Given the description of an element on the screen output the (x, y) to click on. 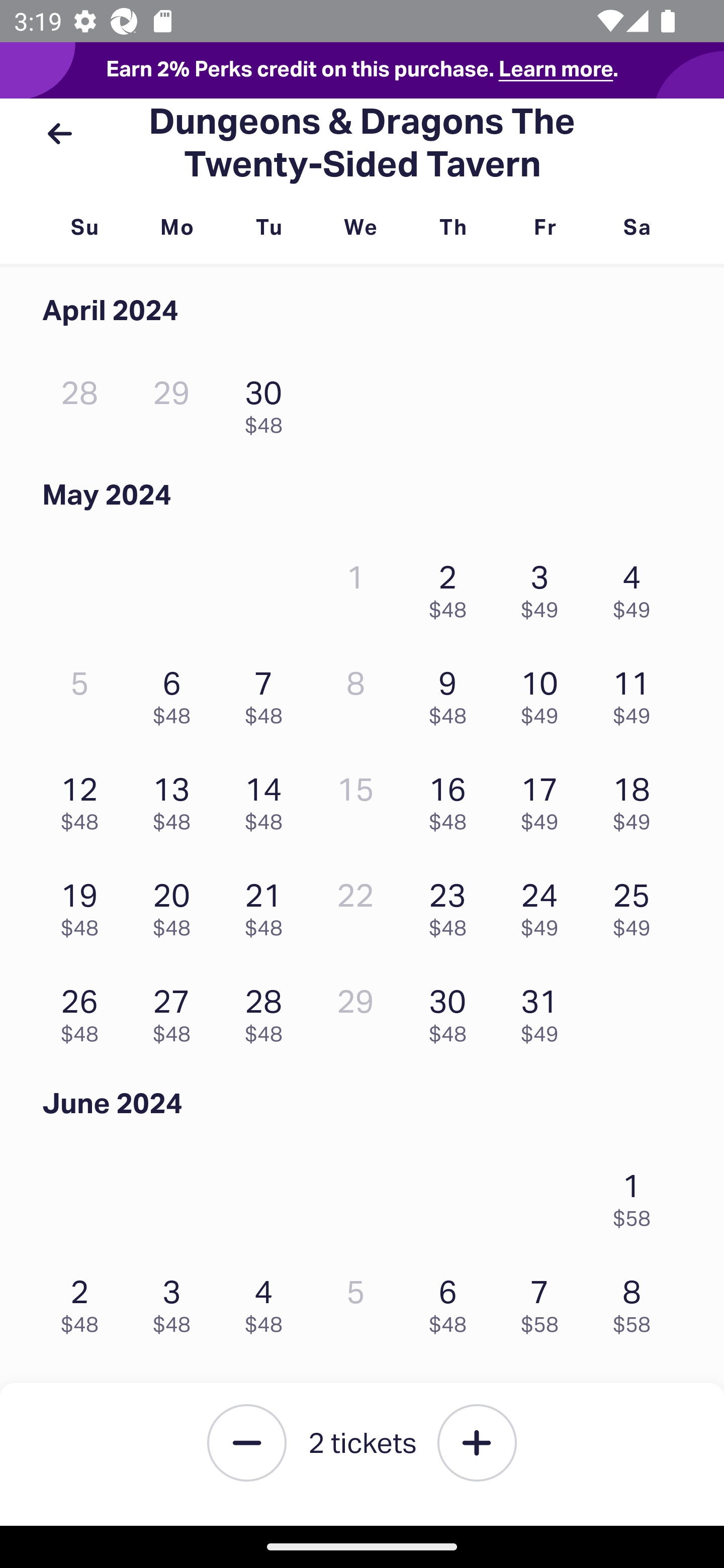
Earn 2% Perks credit on this purchase. Learn more. (362, 70)
back button (59, 133)
30 $48 (268, 401)
2 $48 (452, 586)
3 $49 (544, 586)
4 $49 (636, 586)
6 $48 (176, 691)
7 $48 (268, 691)
9 $48 (452, 691)
10 $49 (544, 691)
11 $49 (636, 691)
12 $48 (84, 798)
13 $48 (176, 798)
14 $48 (268, 798)
16 $48 (452, 798)
17 $49 (544, 798)
18 $49 (636, 798)
19 $48 (84, 905)
20 $48 (176, 905)
21 $48 (268, 905)
23 $48 (452, 905)
24 $49 (544, 905)
25 $49 (636, 905)
26 $48 (84, 1010)
27 $48 (176, 1010)
28 $48 (268, 1010)
30 $48 (452, 1010)
31 $49 (544, 1010)
1 $58 (636, 1195)
2 $48 (84, 1301)
3 $48 (176, 1301)
4 $48 (268, 1301)
6 $48 (452, 1301)
7 $58 (544, 1301)
8 $58 (636, 1301)
